Given the description of an element on the screen output the (x, y) to click on. 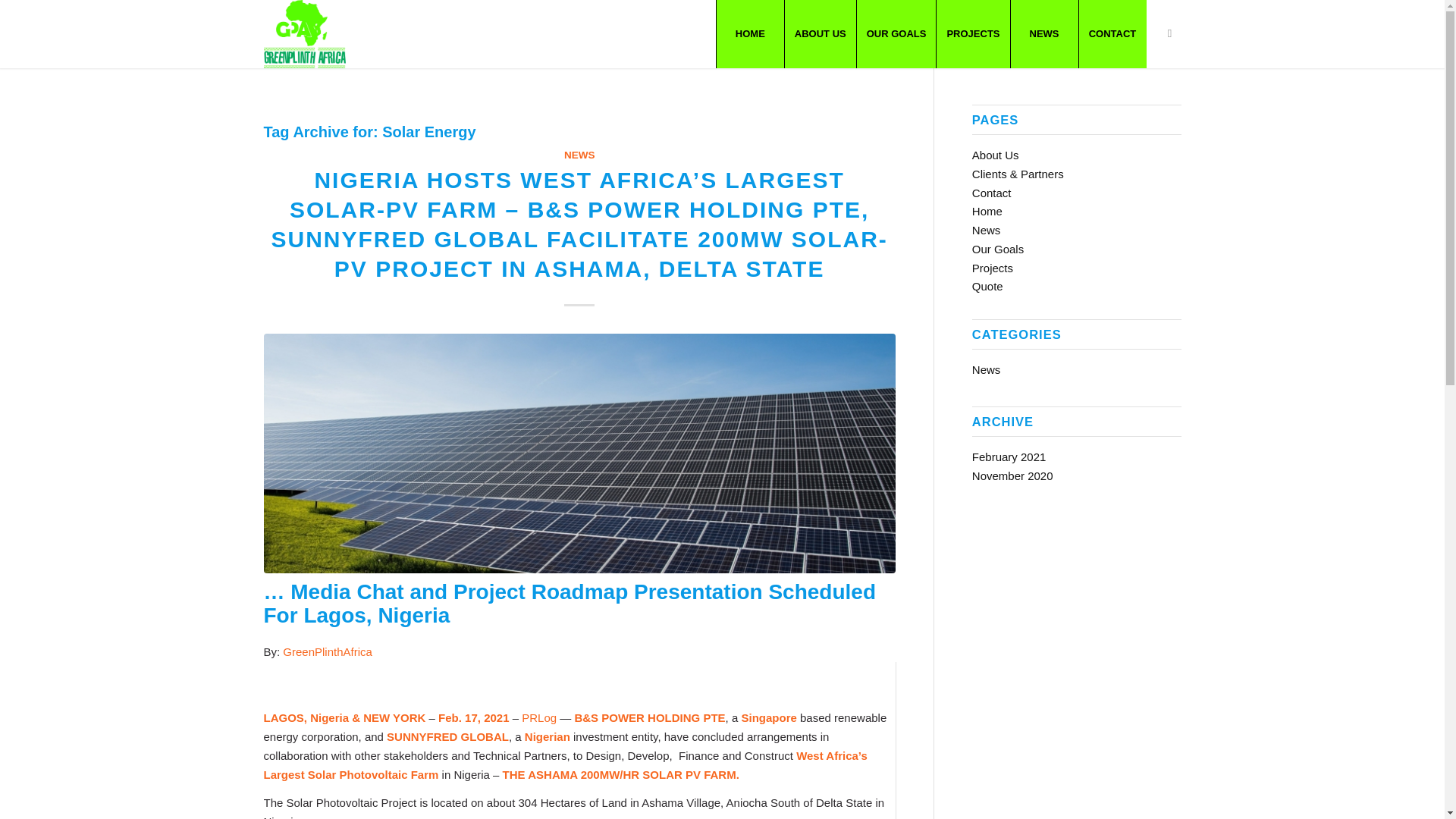
PRLog (538, 717)
Quote (987, 286)
greenplinthafrica-logo (304, 33)
OUR GOALS (896, 33)
Home (987, 210)
CONTACT (1112, 33)
About Us (995, 154)
Our Goals (997, 248)
Facebook (1169, 33)
Projects (992, 267)
Contact (991, 192)
News (986, 229)
NEWS (1044, 33)
HOME (750, 33)
